Given the description of an element on the screen output the (x, y) to click on. 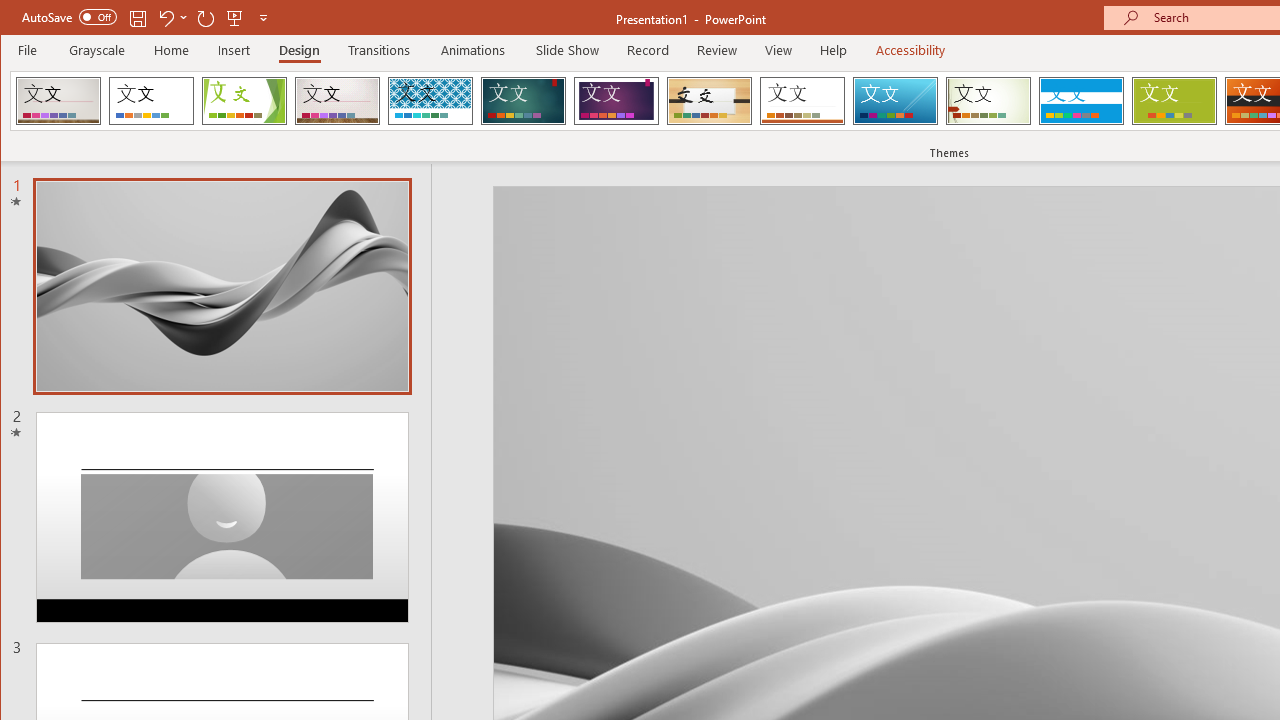
Ion (523, 100)
Organic (709, 100)
Facet (244, 100)
Integral (430, 100)
Retrospect (802, 100)
Banded (1081, 100)
Ion Boardroom (616, 100)
